Given the description of an element on the screen output the (x, y) to click on. 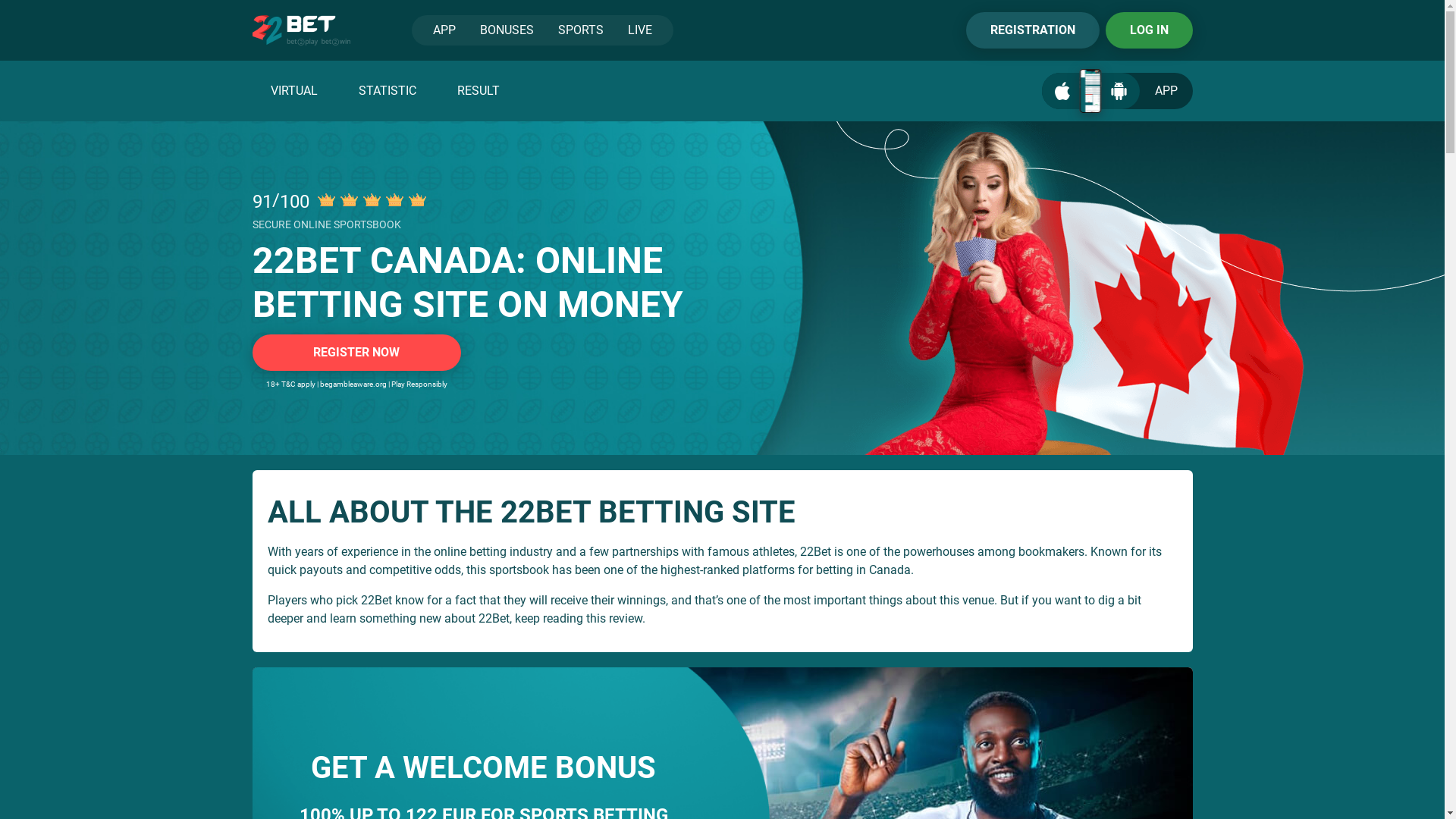
REGISTRATION Element type: text (1032, 30)
22Bet Element type: hover (300, 30)
Secure Online Sportsbook Element type: hover (348, 200)
APP Element type: text (443, 29)
VIRTUAL Element type: text (293, 90)
Secure Online Sportsbook Element type: hover (371, 200)
22Bet Canada Element type: hover (1091, 288)
SPORTS Element type: text (580, 29)
REGISTER NOW Element type: text (355, 352)
Secure Online Sportsbook Element type: hover (416, 200)
Secure Online Sportsbook Element type: hover (325, 200)
LOG IN Element type: text (1148, 30)
STATISTIC Element type: text (386, 90)
App Element type: hover (1090, 90)
Android Element type: hover (1118, 90)
BONUSES Element type: text (506, 29)
APP Element type: text (1116, 90)
22Bet Bookmaker Element type: hover (722, 288)
LIVE Element type: text (639, 29)
IOS Element type: hover (1061, 90)
Secure Online Sportsbook Element type: hover (394, 200)
RESULT Element type: text (477, 90)
